Given the description of an element on the screen output the (x, y) to click on. 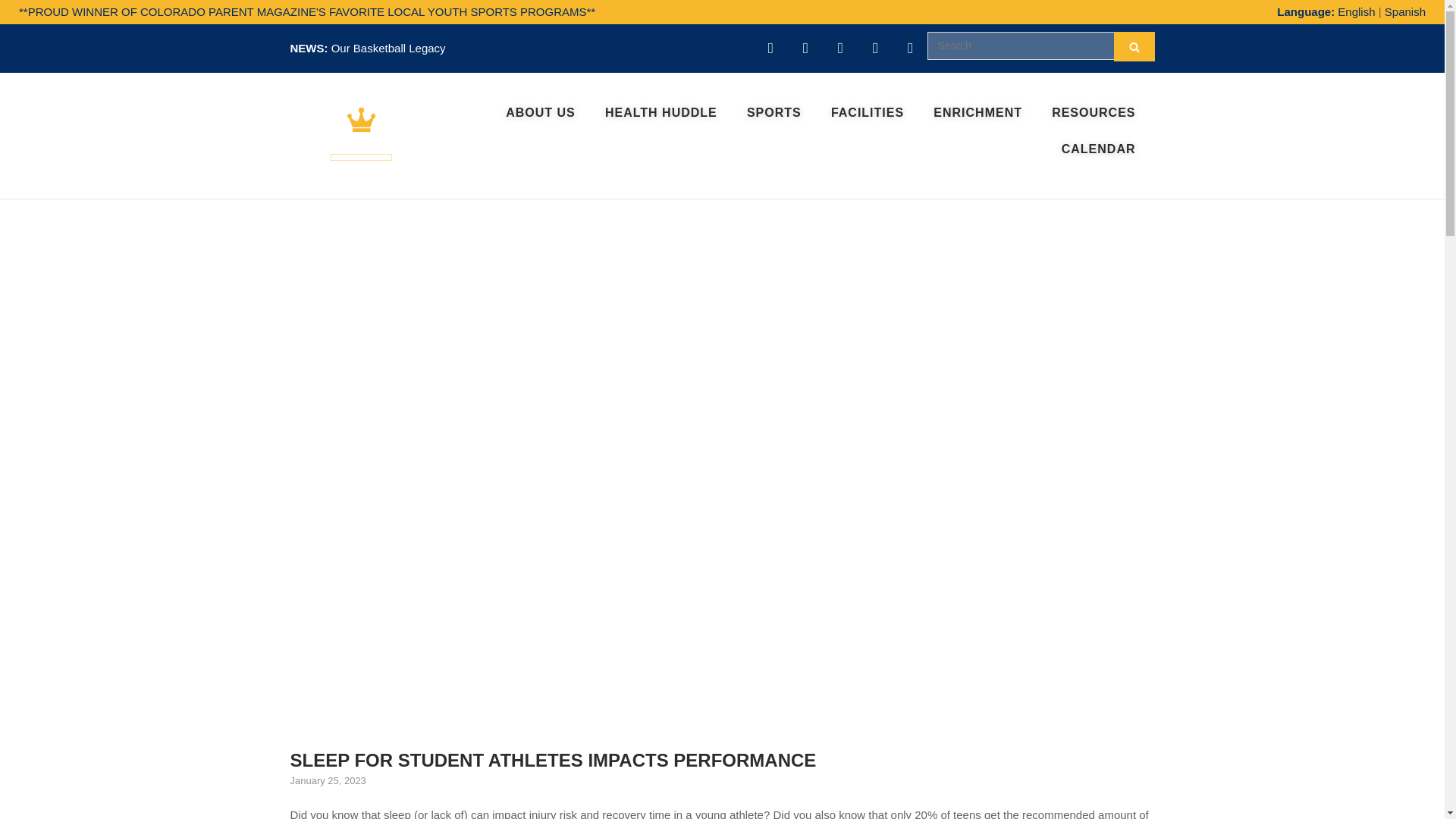
SPORTS (774, 112)
Facebook (840, 48)
HEALTH HUDDLE (660, 112)
FACILITIES (867, 112)
Instagram (805, 48)
ABOUT US (540, 112)
Twitter (875, 48)
Our Basketball Legacy (388, 47)
ENRICHMENT (977, 112)
TikTok (910, 48)
YouTube (770, 48)
Spanish (1404, 11)
English (1357, 11)
